Given the description of an element on the screen output the (x, y) to click on. 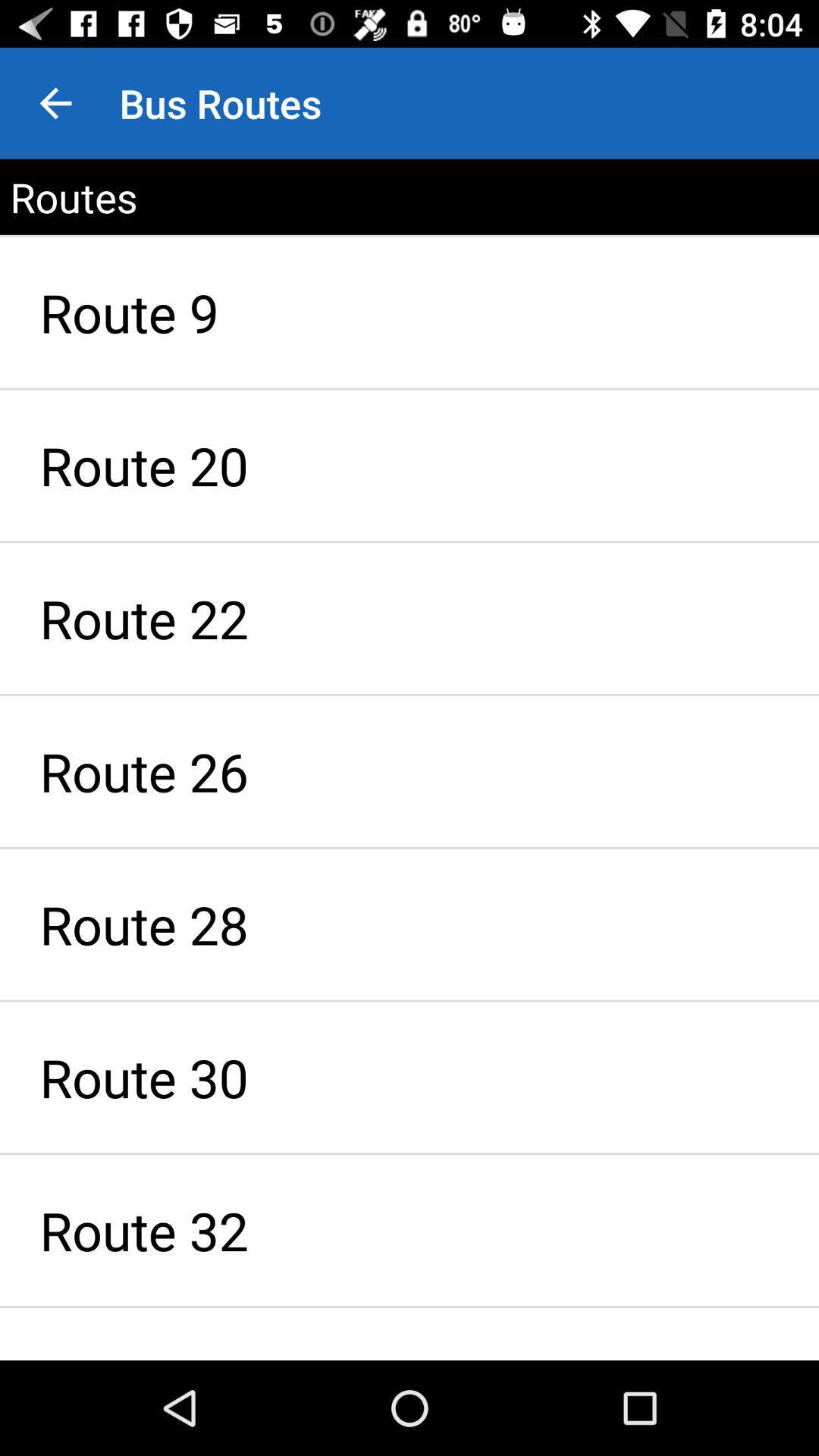
scroll to the route 22 icon (409, 618)
